Given the description of an element on the screen output the (x, y) to click on. 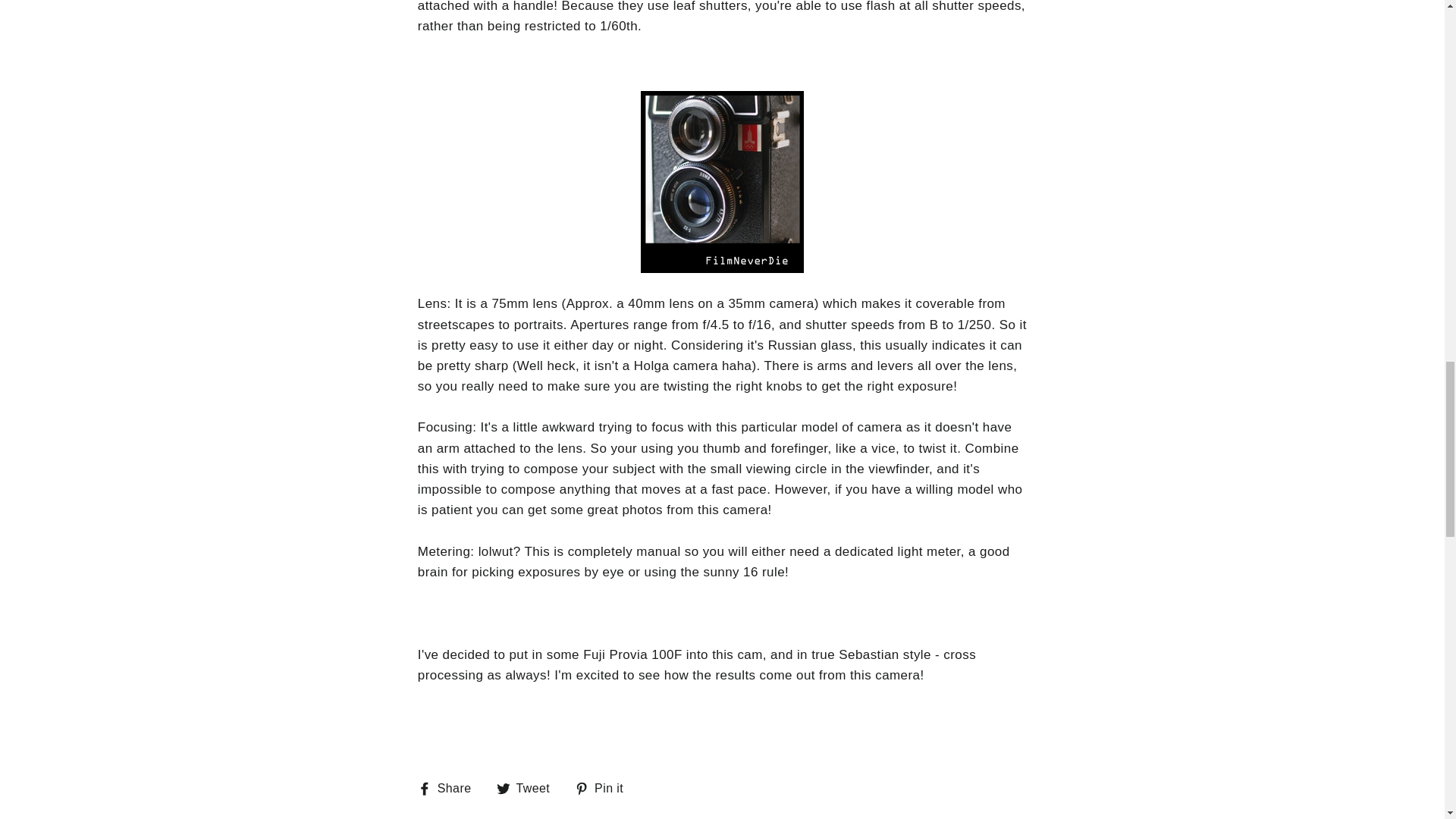
Share on Facebook (450, 788)
Pin on Pinterest (604, 788)
Tweet on Twitter (529, 788)
